Given the description of an element on the screen output the (x, y) to click on. 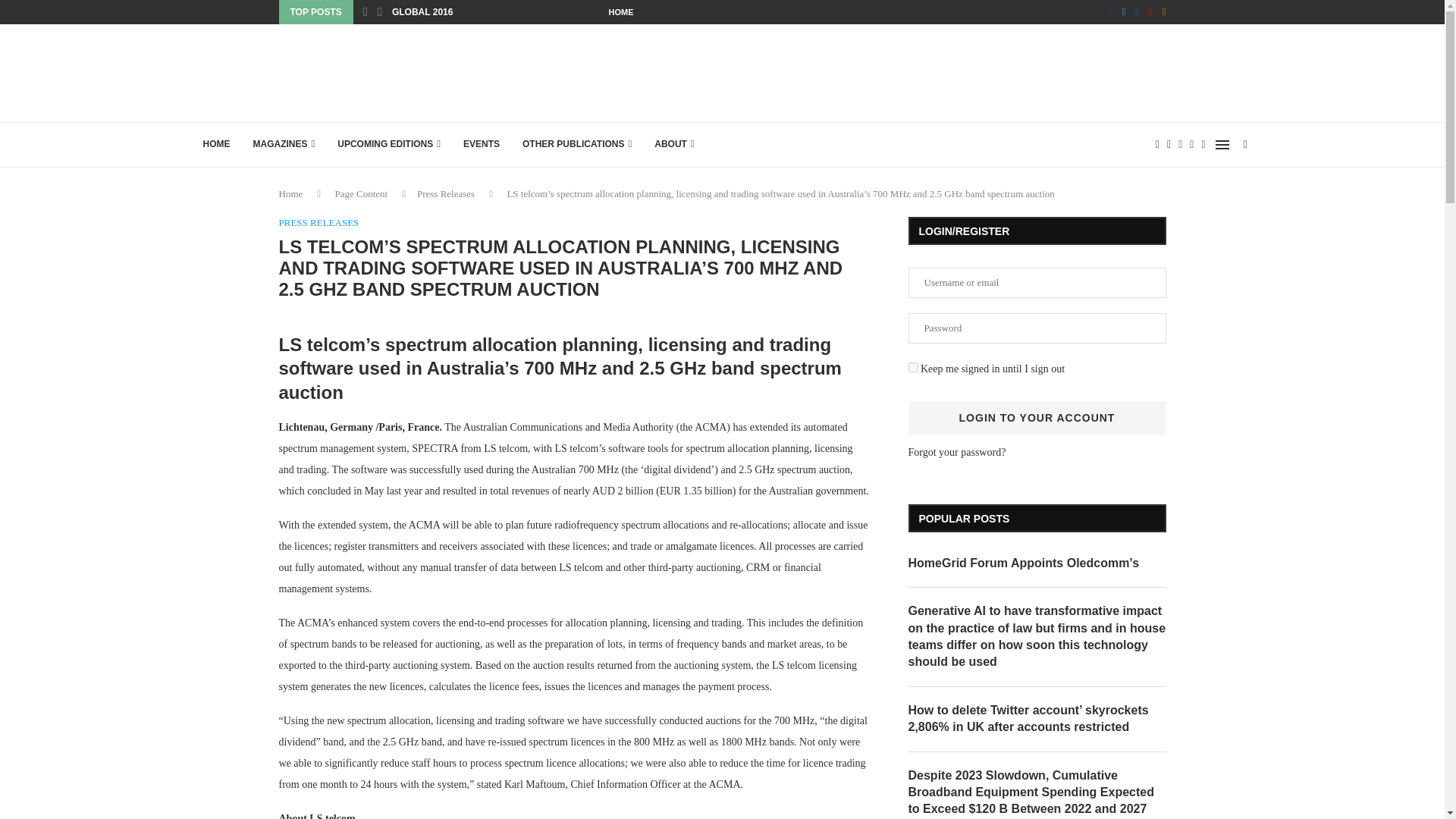
HOME (215, 144)
Login to your account (1037, 417)
MAGAZINES (283, 144)
HOME (620, 12)
GLOBAL 2016 (421, 12)
forever (913, 367)
